Given the description of an element on the screen output the (x, y) to click on. 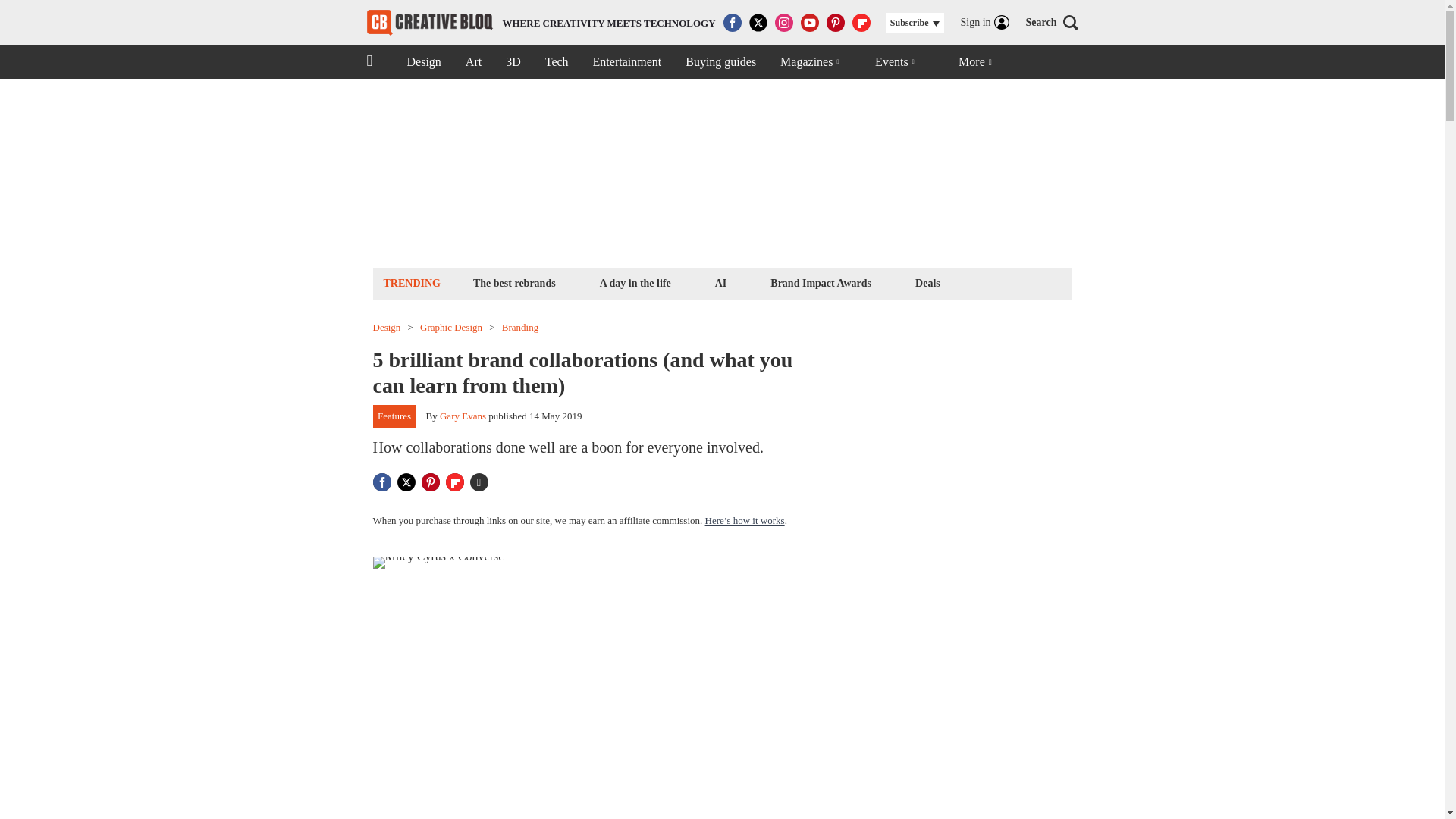
Art (472, 61)
Graphic Design (541, 22)
Branding (450, 327)
Design (520, 327)
Brand Impact Awards (423, 61)
Tech (820, 282)
AI (556, 61)
Design (721, 282)
Creative Bloq (386, 327)
